Given the description of an element on the screen output the (x, y) to click on. 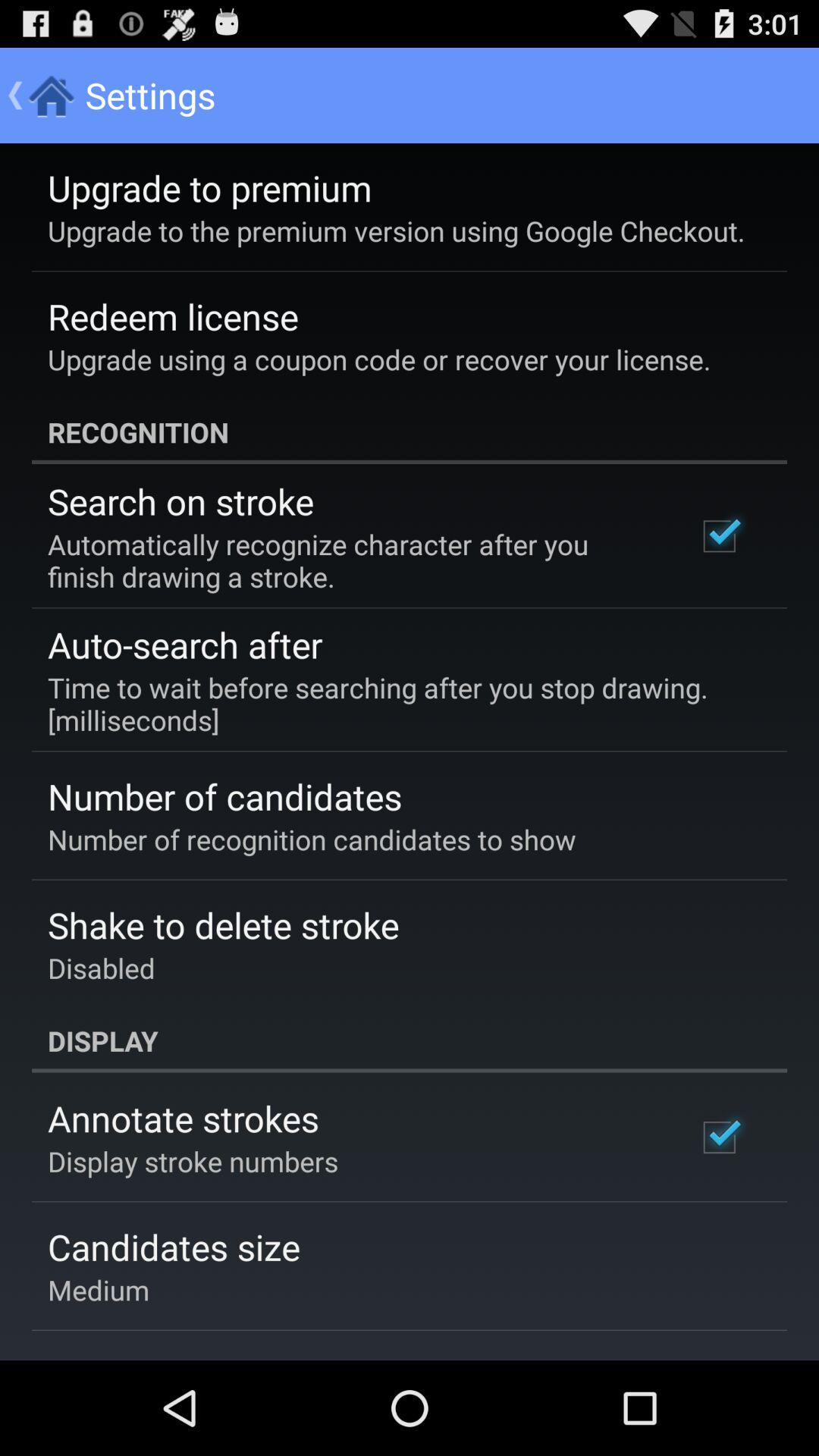
open the time to wait icon (399, 703)
